Given the description of an element on the screen output the (x, y) to click on. 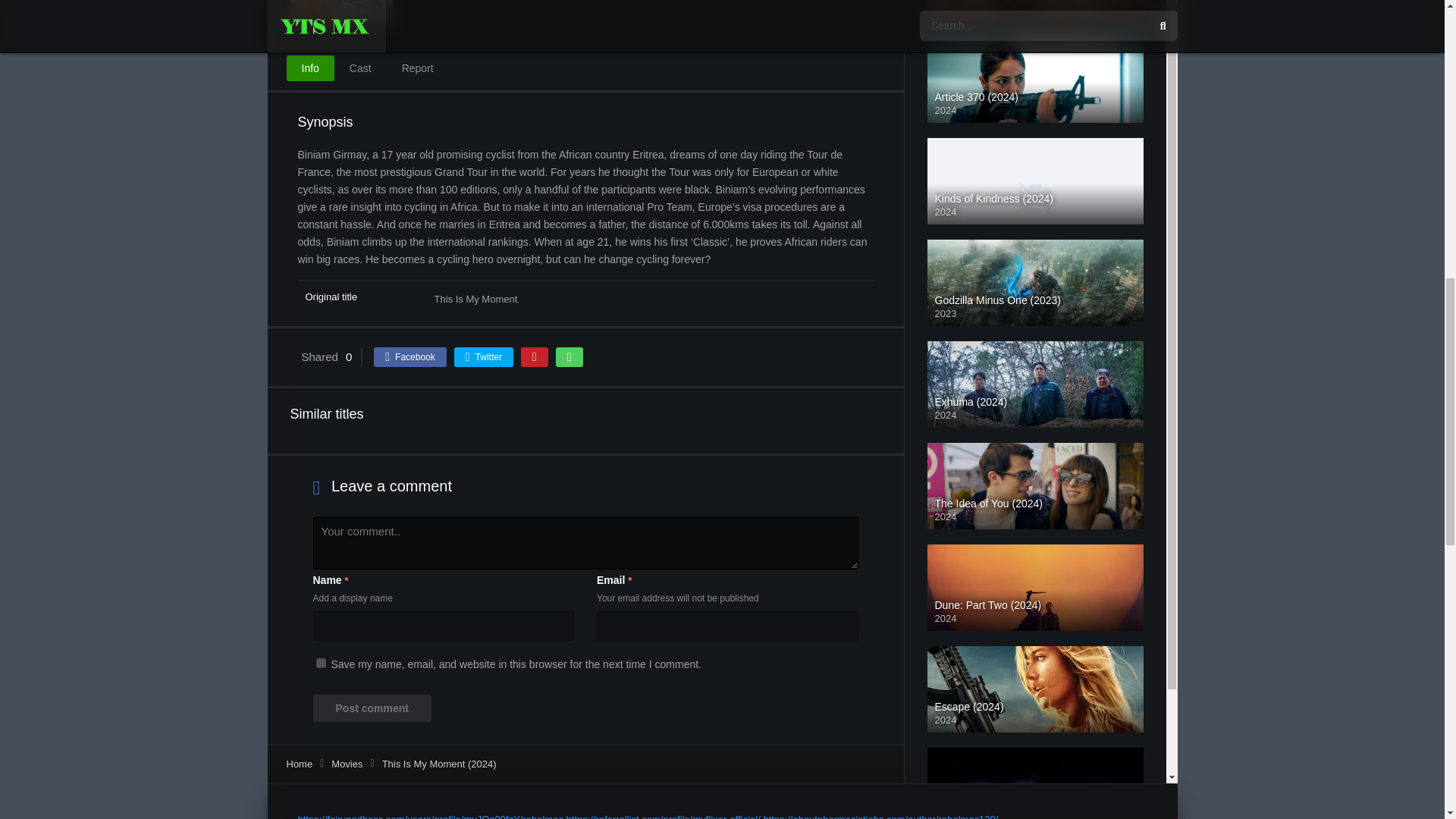
Cast (360, 68)
Home (299, 764)
Movies (346, 764)
Info (310, 68)
Facebook (410, 356)
Twitter (483, 356)
Post comment (371, 707)
Post comment (371, 707)
yes (319, 663)
Report (417, 68)
